Given the description of an element on the screen output the (x, y) to click on. 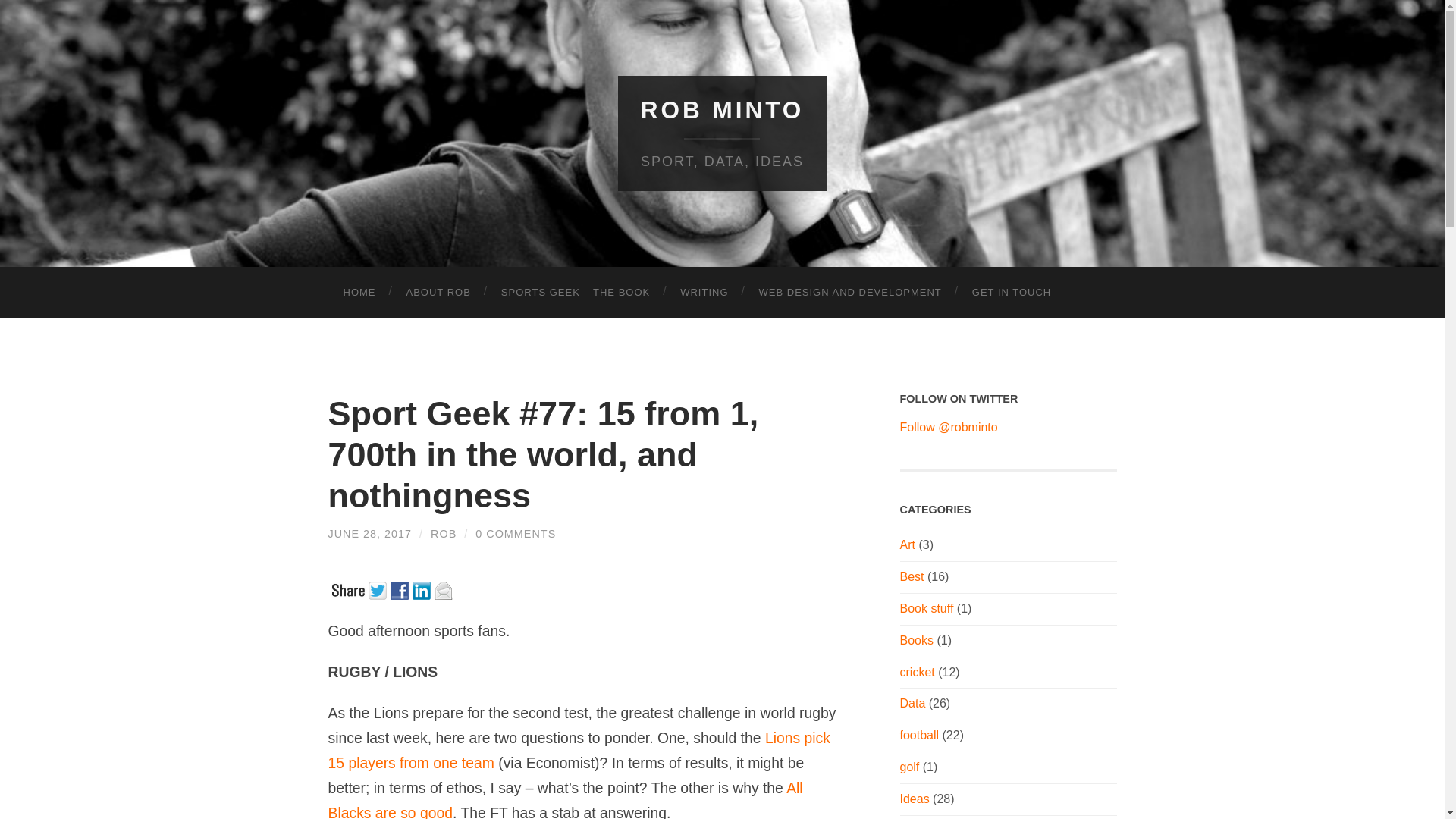
WEB DESIGN AND DEVELOPMENT (850, 291)
cricket (916, 671)
Facebook (401, 588)
Best (911, 576)
ROB (443, 533)
Book stuff (926, 608)
GET IN TOUCH (1010, 291)
Twitter (379, 588)
JUNE 28, 2017 (369, 533)
Linkedin (422, 588)
All Blacks are so good (564, 799)
Art (906, 544)
Email (444, 588)
HOME (358, 291)
ABOUT ROB (438, 291)
